Given the description of an element on the screen output the (x, y) to click on. 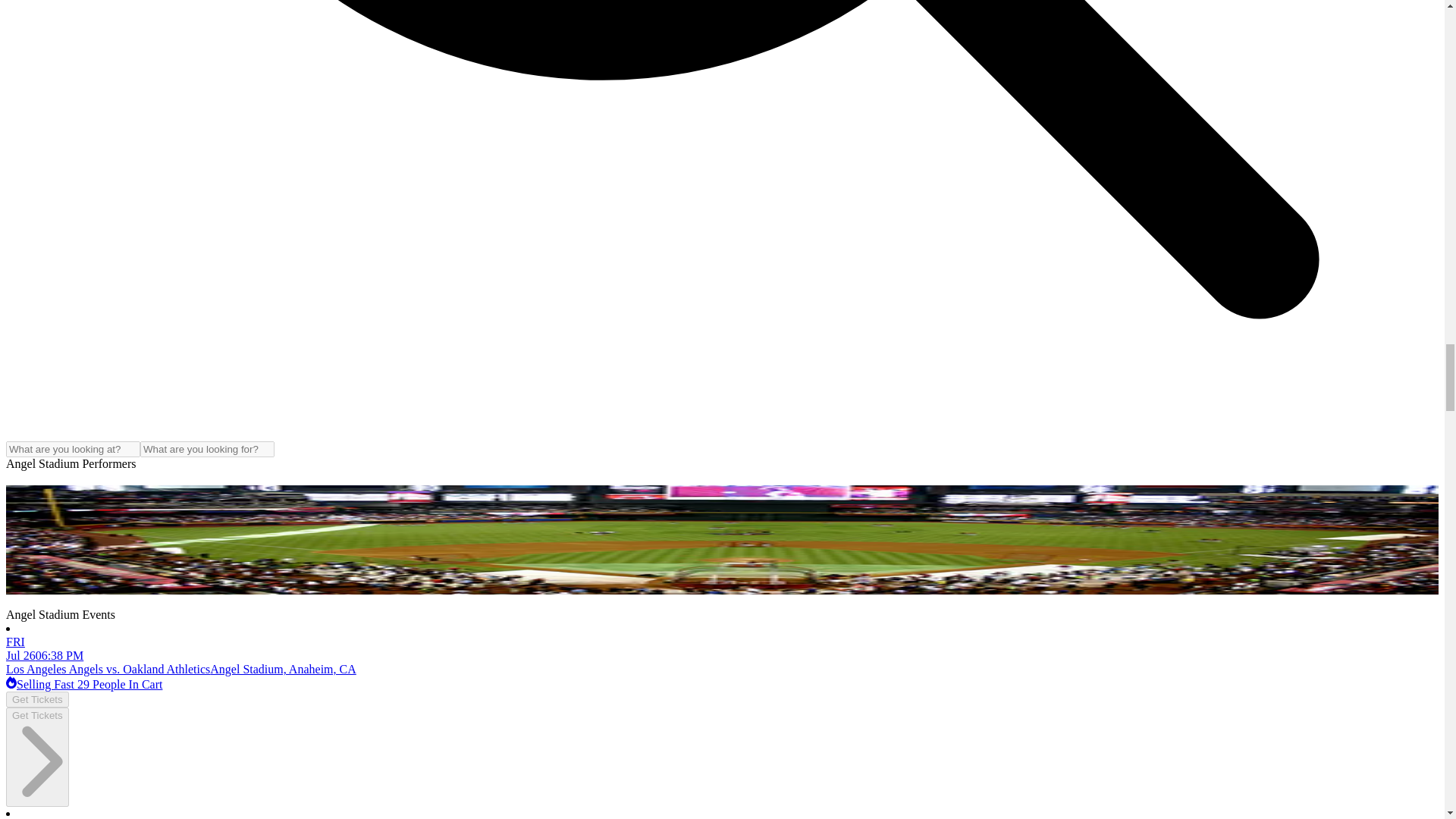
Get Tickets (36, 699)
Get Tickets (36, 756)
